Given the description of an element on the screen output the (x, y) to click on. 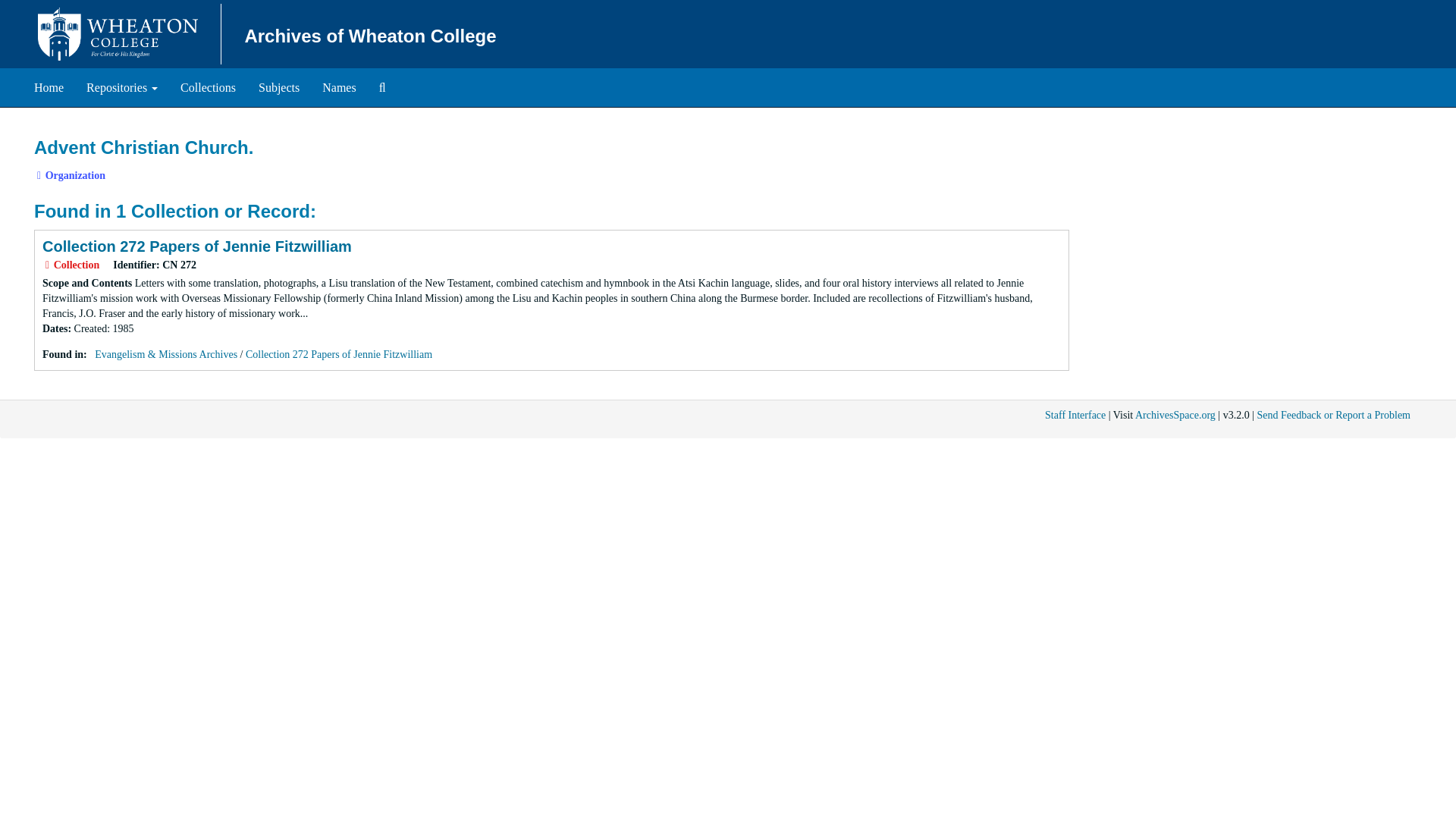
Archives of Wheaton College (370, 35)
translation missing: en.dates (54, 328)
Send Feedback or Report a Problem (1333, 414)
Return to the Archives of Wheaton College homepage (49, 87)
Staff Interface (1075, 414)
Subjects (279, 87)
Repositories (121, 87)
Names (338, 87)
Collection 272 Papers of Jennie Fitzwilliam (197, 246)
Collection 272 Papers of Jennie Fitzwilliam (339, 354)
ArchivesSpace.org (1175, 414)
Page Actions (1139, 130)
Collections (49, 87)
Return to the Archives of Wheaton College homepage (207, 87)
